Given the description of an element on the screen output the (x, y) to click on. 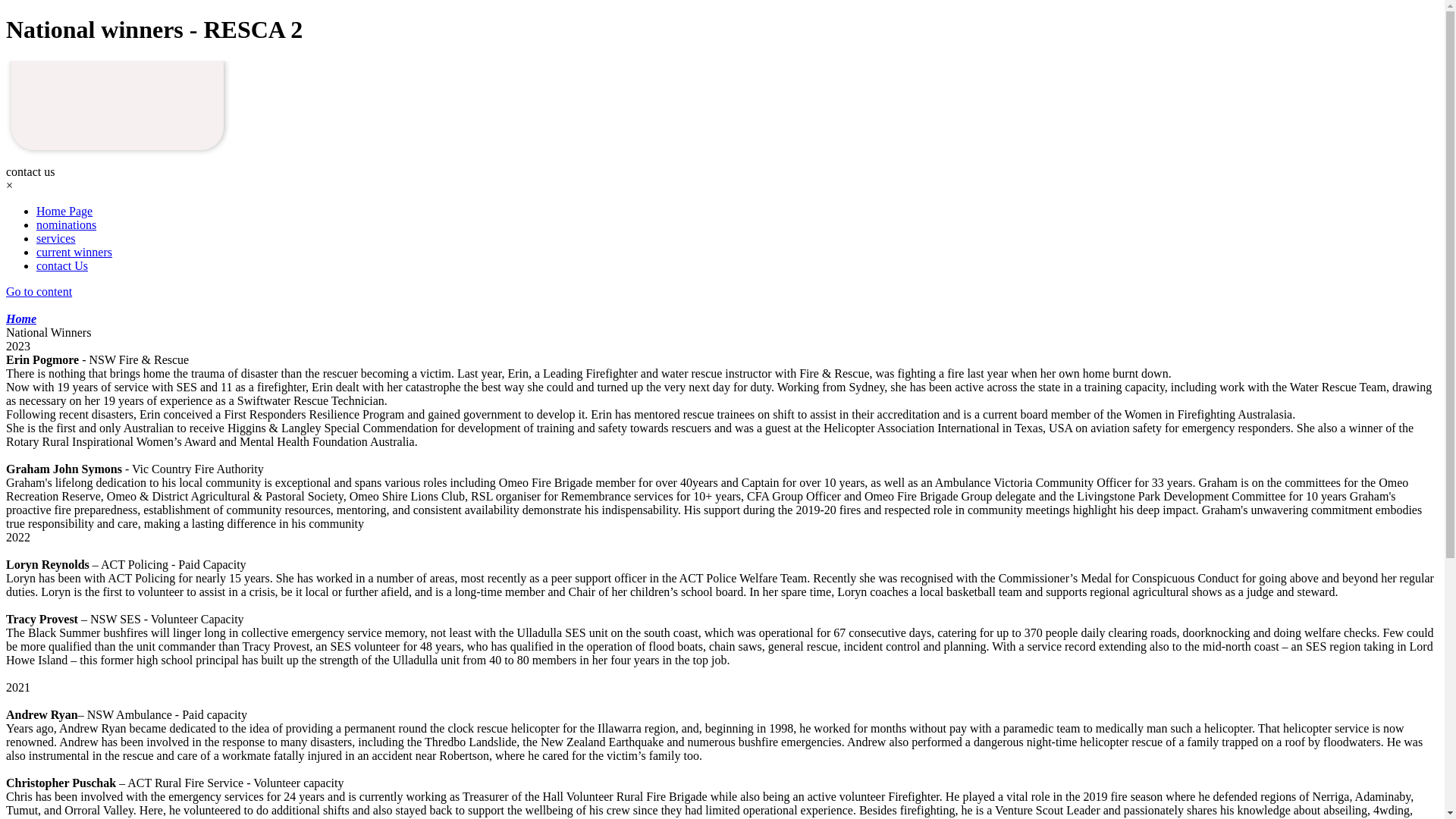
contact Us Element type: text (61, 265)
services Element type: text (55, 238)
Home Element type: text (21, 318)
Home Page Element type: text (64, 210)
Go to content Element type: text (39, 291)
current winners Element type: text (74, 251)
nominations Element type: text (66, 224)
